Given the description of an element on the screen output the (x, y) to click on. 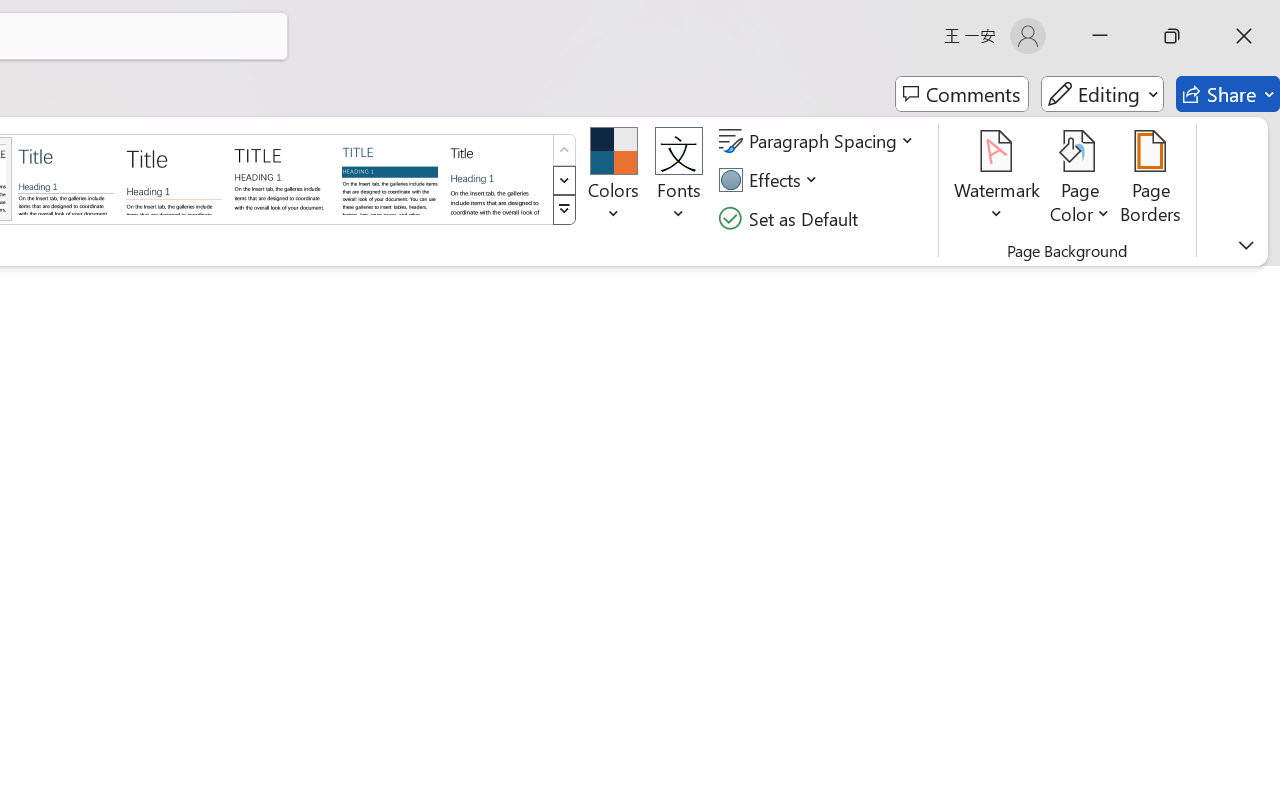
Class: NetUIImage (564, 210)
Paragraph Spacing (819, 141)
Shaded (389, 178)
Page Borders... (1151, 179)
Lines (Stylish) (173, 178)
Ribbon Display Options (1246, 245)
Fonts (678, 179)
Share (1228, 94)
Page Color (1080, 179)
